Given the description of an element on the screen output the (x, y) to click on. 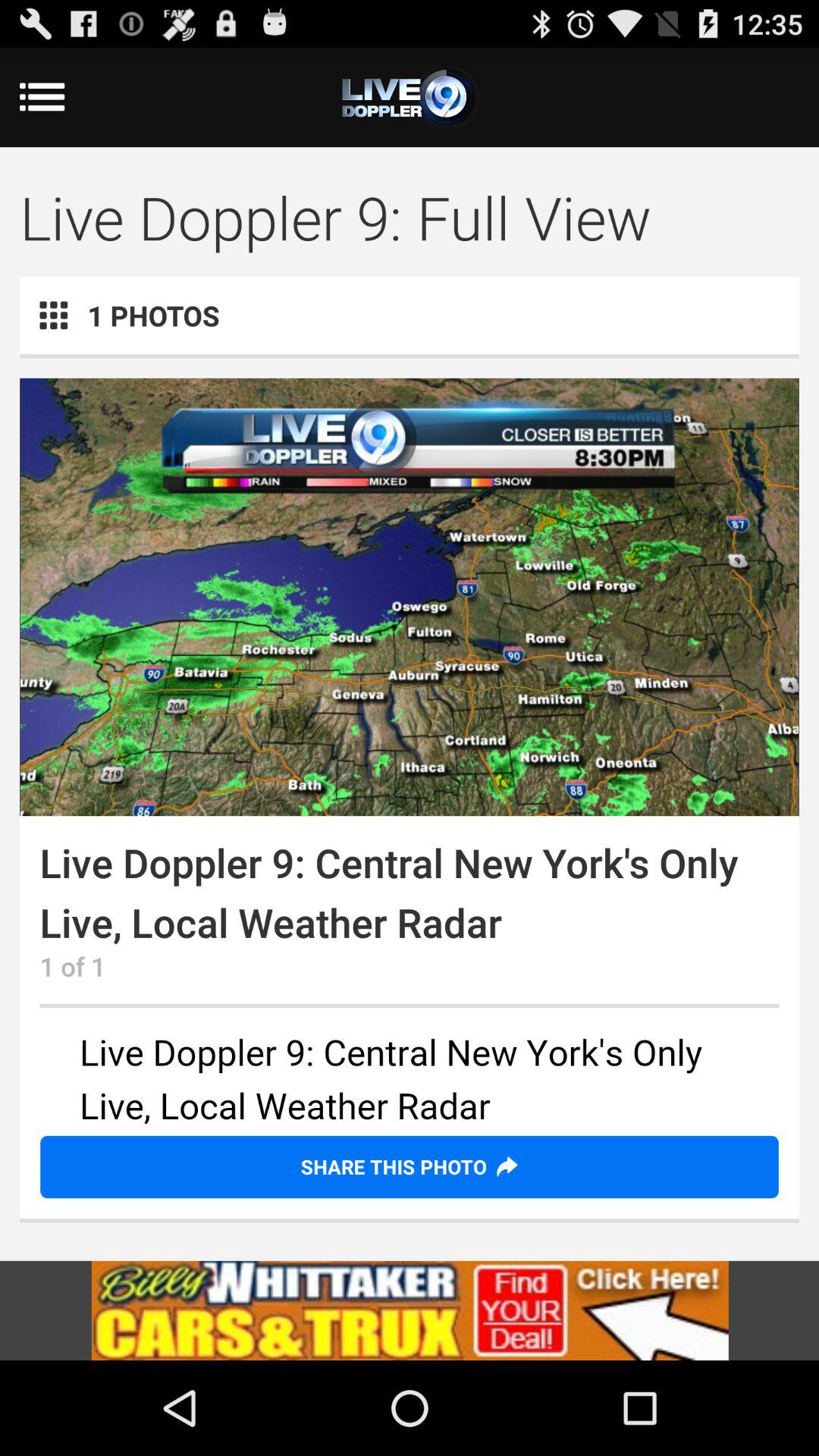
close the add (409, 97)
